Given the description of an element on the screen output the (x, y) to click on. 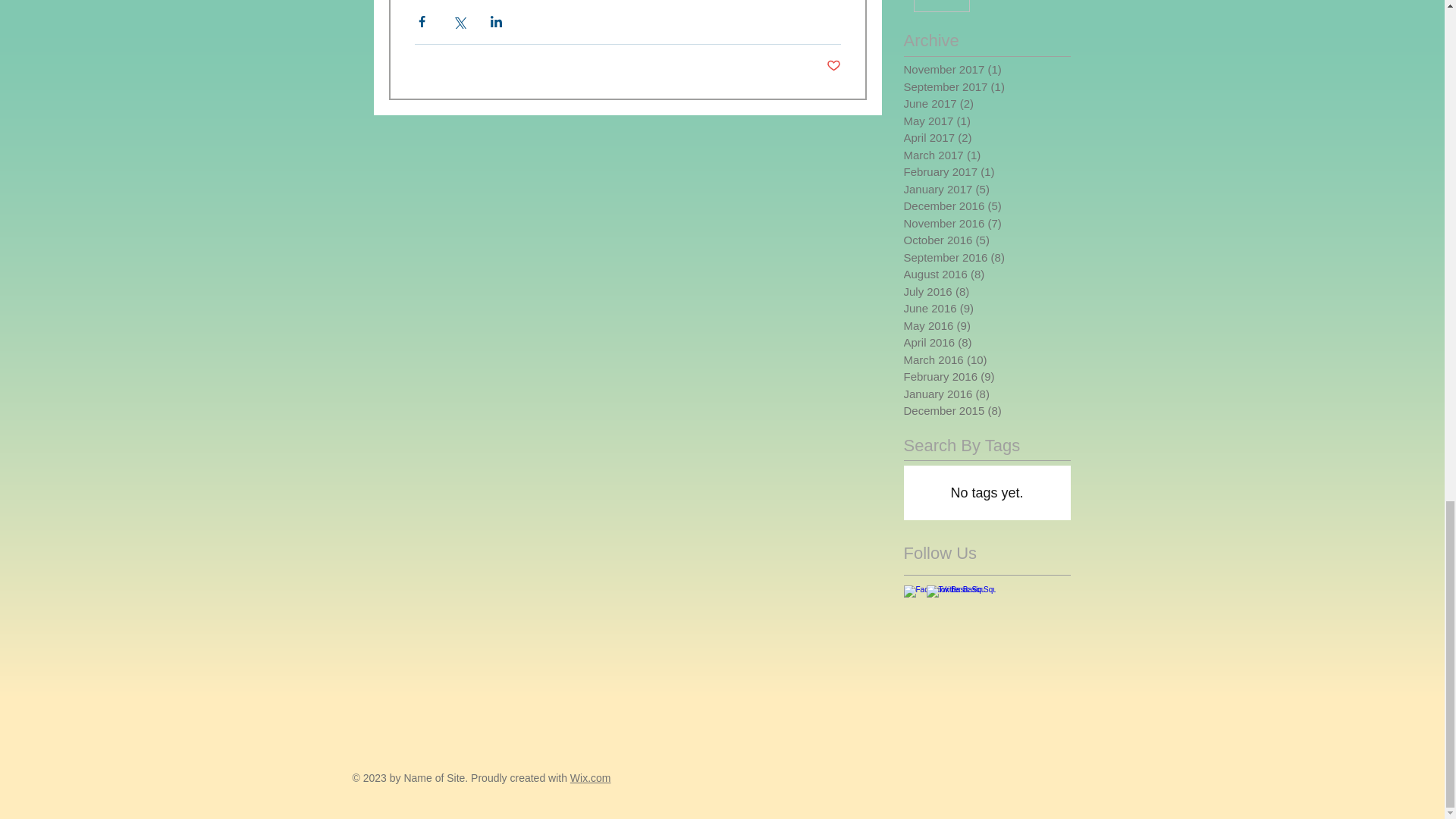
Wix.com (590, 777)
Post not marked as liked (834, 66)
